Given the description of an element on the screen output the (x, y) to click on. 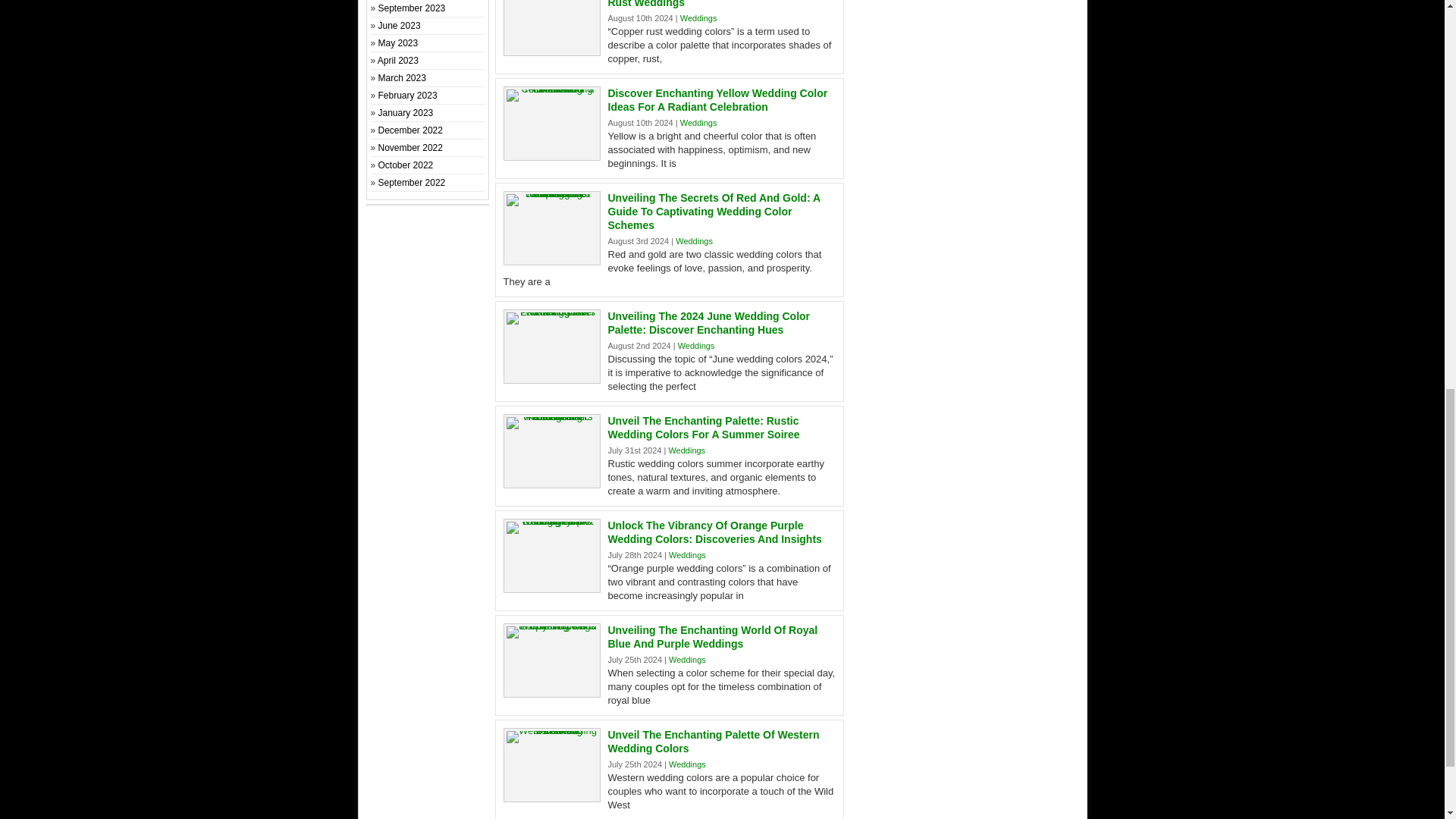
Weddings (687, 764)
Weddings (696, 345)
Weddings (694, 240)
Weddings (698, 122)
Weddings (686, 450)
